Given the description of an element on the screen output the (x, y) to click on. 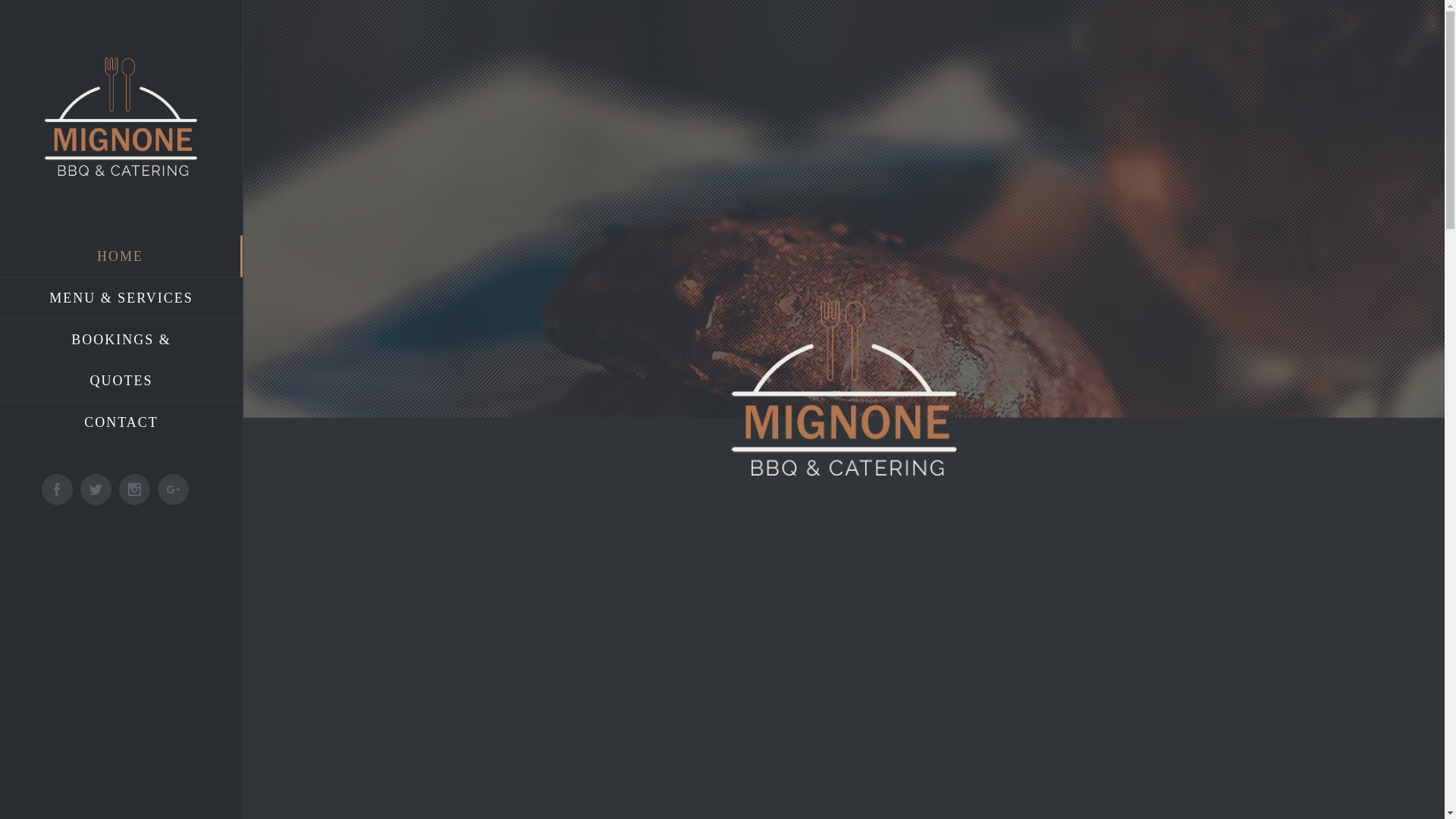
CONTACT Element type: text (121, 422)
BOOKINGS & QUOTES Element type: text (121, 360)
Facebook Element type: text (56, 489)
Twitter Element type: text (95, 489)
MENU & SERVICES Element type: text (121, 298)
Google+ Element type: text (172, 489)
HOME Element type: text (121, 256)
Instagram Element type: text (134, 489)
